Given the description of an element on the screen output the (x, y) to click on. 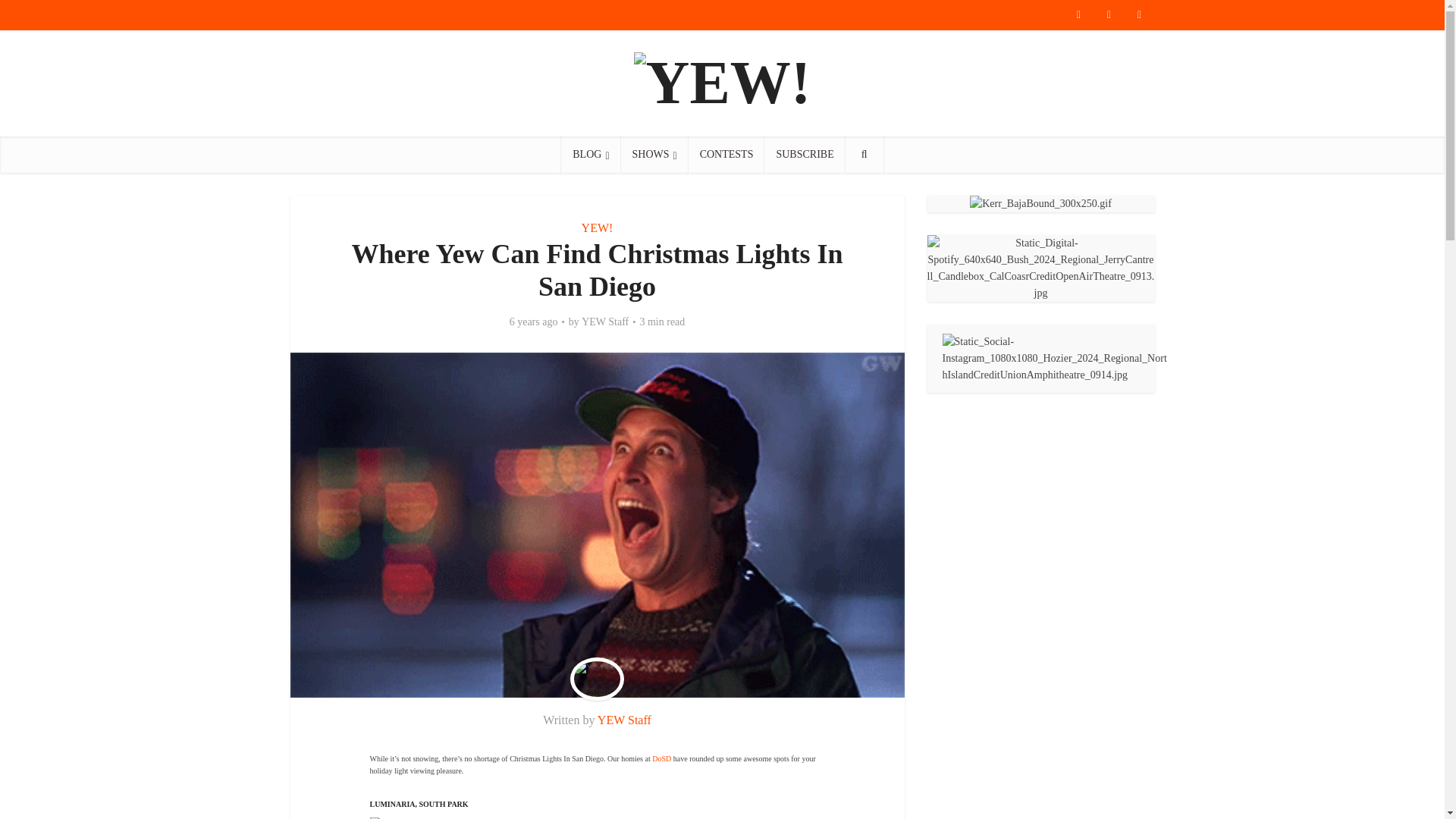
YEW! (596, 227)
YEW Staff (623, 719)
SHOWS (654, 154)
SUBSCRIBE (804, 154)
BLOG (590, 154)
YEW Staff (604, 322)
CONTESTS (726, 154)
